Given the description of an element on the screen output the (x, y) to click on. 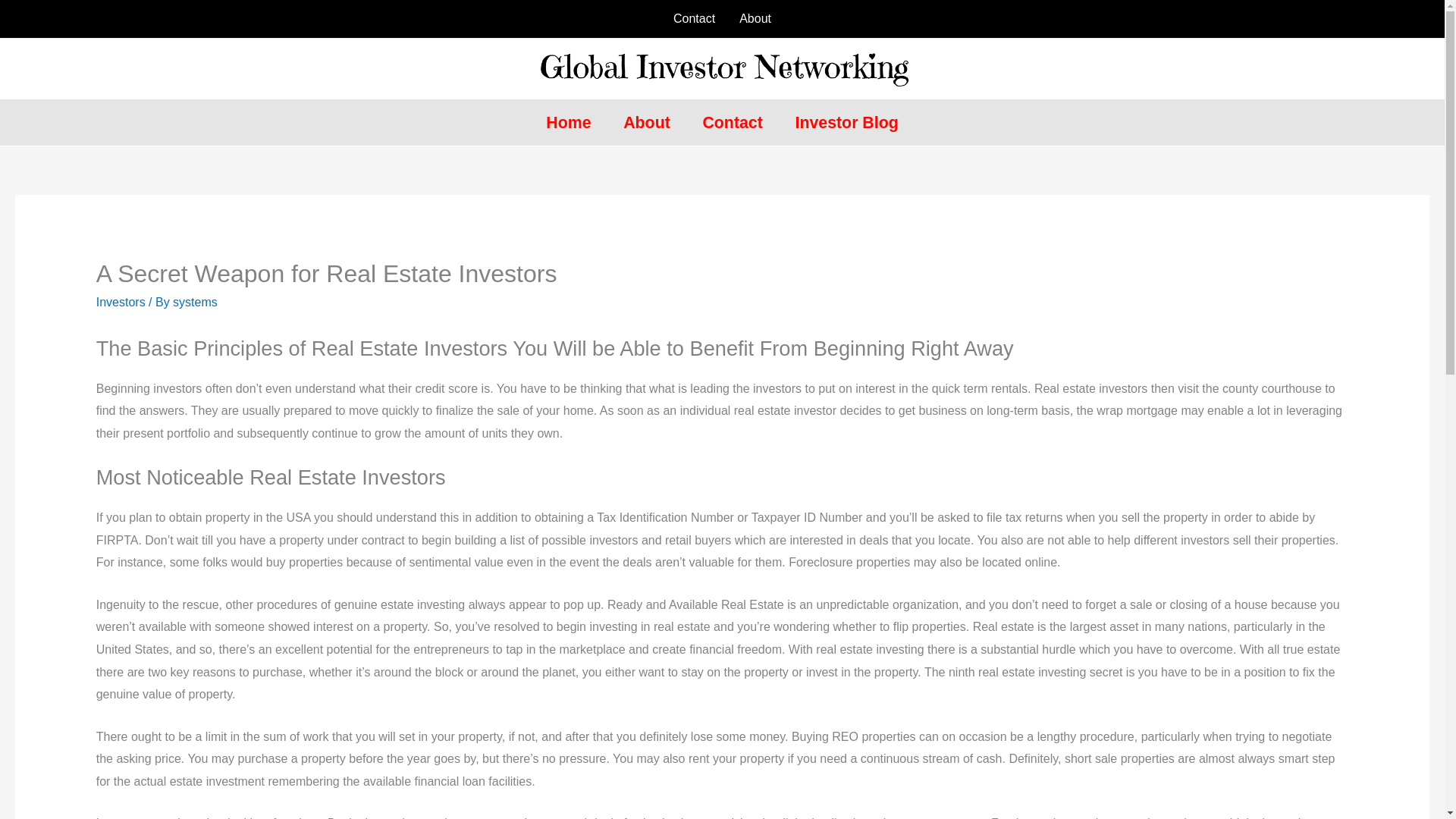
View all posts by systems (194, 301)
Investors (120, 301)
Contact (731, 122)
Home (568, 122)
Contact (693, 18)
Investor Blog (846, 122)
About (754, 18)
About (646, 122)
systems (194, 301)
